Given the description of an element on the screen output the (x, y) to click on. 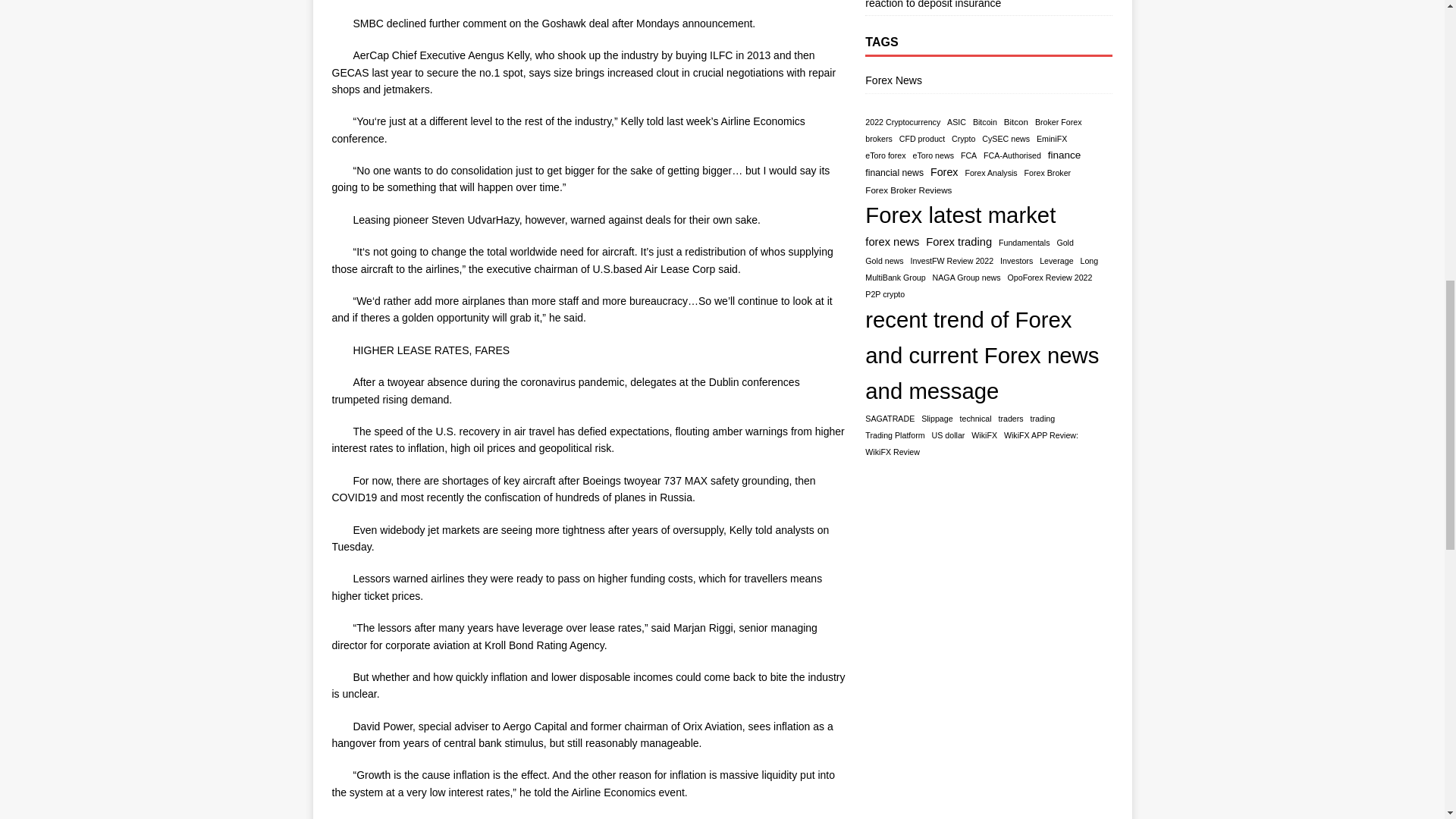
Bitcon (1015, 122)
CFD product (921, 138)
ASIC (956, 122)
brokers (878, 138)
Bitcoin (984, 122)
Broker Forex (1058, 122)
Forex News (988, 82)
2022 Cryptocurrency (902, 122)
